Given the description of an element on the screen output the (x, y) to click on. 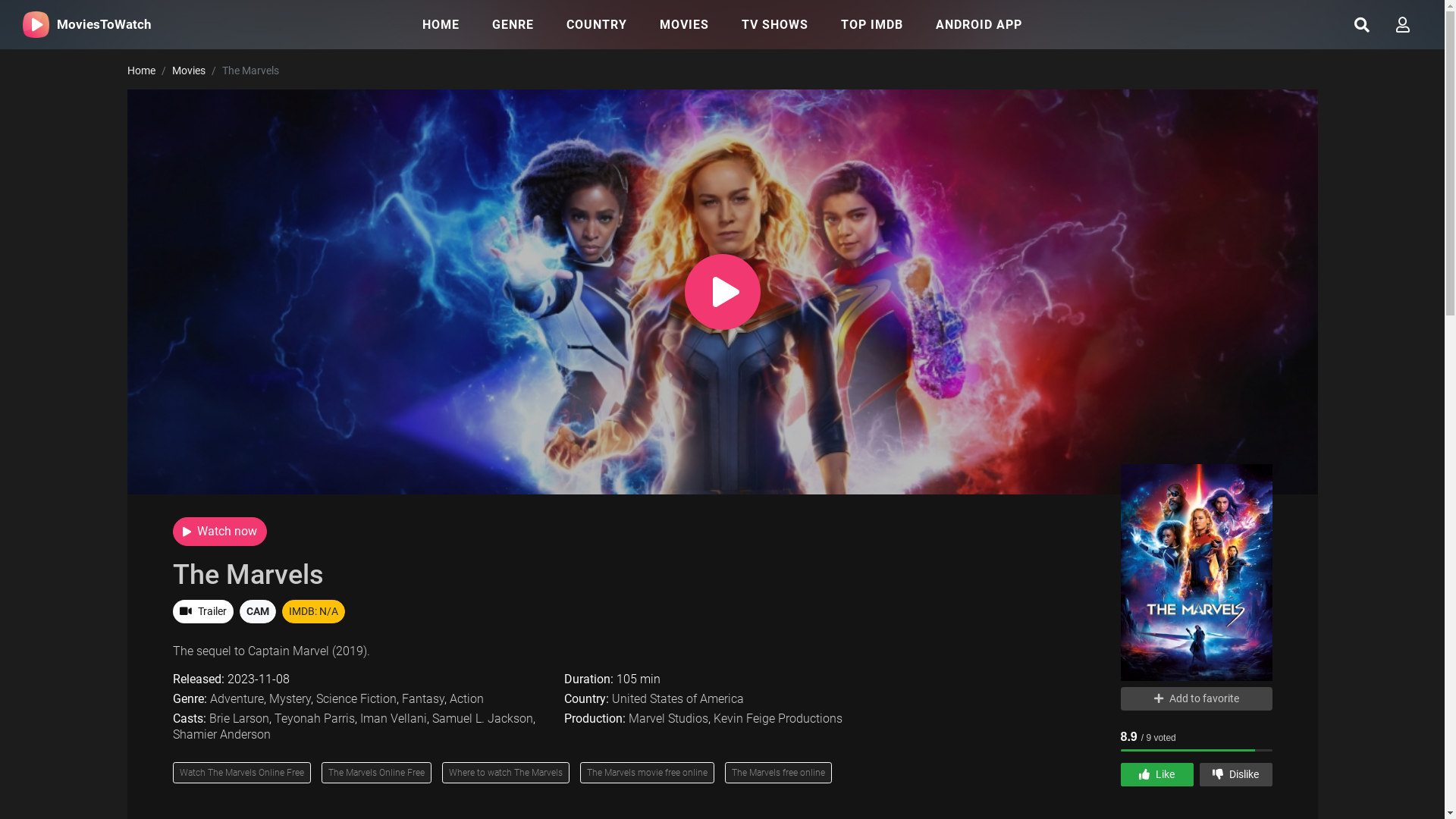
Iman Vellani Element type: text (392, 718)
TV SHOWS Element type: text (774, 24)
Dislike Element type: text (1235, 774)
ANDROID APP Element type: text (978, 24)
CAM Element type: text (257, 611)
The Marvels Element type: text (247, 574)
GENRE Element type: text (512, 24)
Science Fiction Element type: text (355, 698)
Kevin Feige Productions Element type: text (777, 718)
Samuel L. Jackson Element type: text (482, 718)
The Marvels Element type: hover (1196, 577)
Like Element type: text (1156, 774)
Brie Larson Element type: text (239, 718)
Movies Element type: text (187, 70)
IMDB: N/A Element type: text (313, 611)
COUNTRY Element type: text (596, 24)
Mystery Element type: text (289, 698)
HOME Element type: text (440, 24)
Teyonah Parris Element type: text (314, 718)
Add to favorite Element type: text (1196, 698)
Home Element type: text (141, 70)
Marvel Studios Element type: text (668, 718)
Action Element type: text (465, 698)
Adventure Element type: text (236, 698)
TOP IMDB Element type: text (871, 24)
Shamier Anderson Element type: text (221, 734)
Fantasy Element type: text (422, 698)
MoviesToWatch Element type: text (86, 24)
MOVIES Element type: text (684, 24)
United States of America Element type: text (677, 698)
Watch now Element type: text (219, 531)
Trailer Element type: text (202, 611)
